Given the description of an element on the screen output the (x, y) to click on. 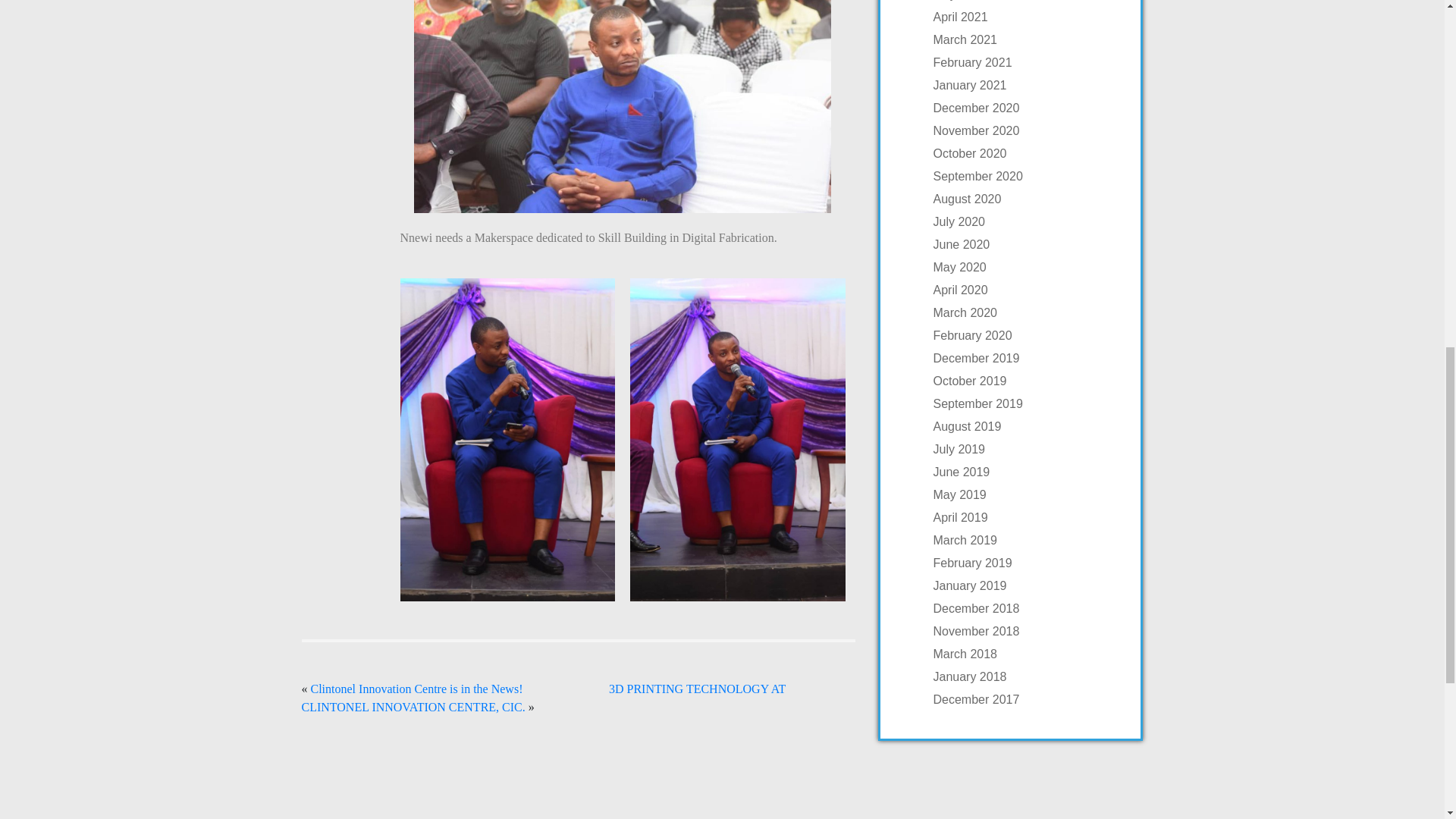
December 2020 (1024, 108)
February 2021 (1024, 62)
March 2021 (1024, 39)
May 2021 (1024, 1)
3D PRINTING TECHNOLOGY AT CLINTONEL INNOVATION CENTRE, CIC. (543, 697)
January 2021 (1024, 85)
April 2021 (1024, 17)
Clintonel Innovation Centre is in the News! (416, 688)
